Given the description of an element on the screen output the (x, y) to click on. 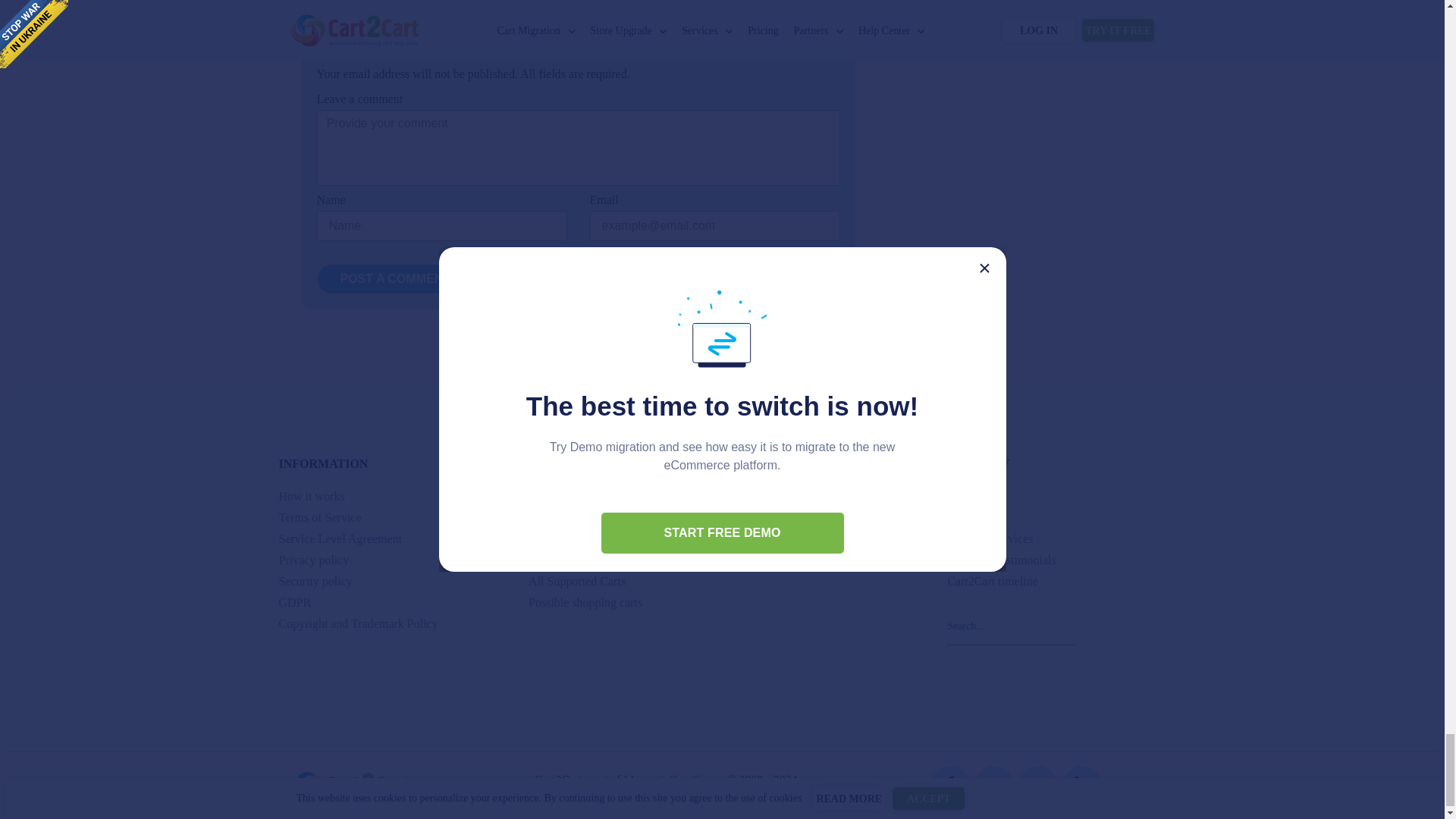
Post a Commentary (407, 278)
